Given the description of an element on the screen output the (x, y) to click on. 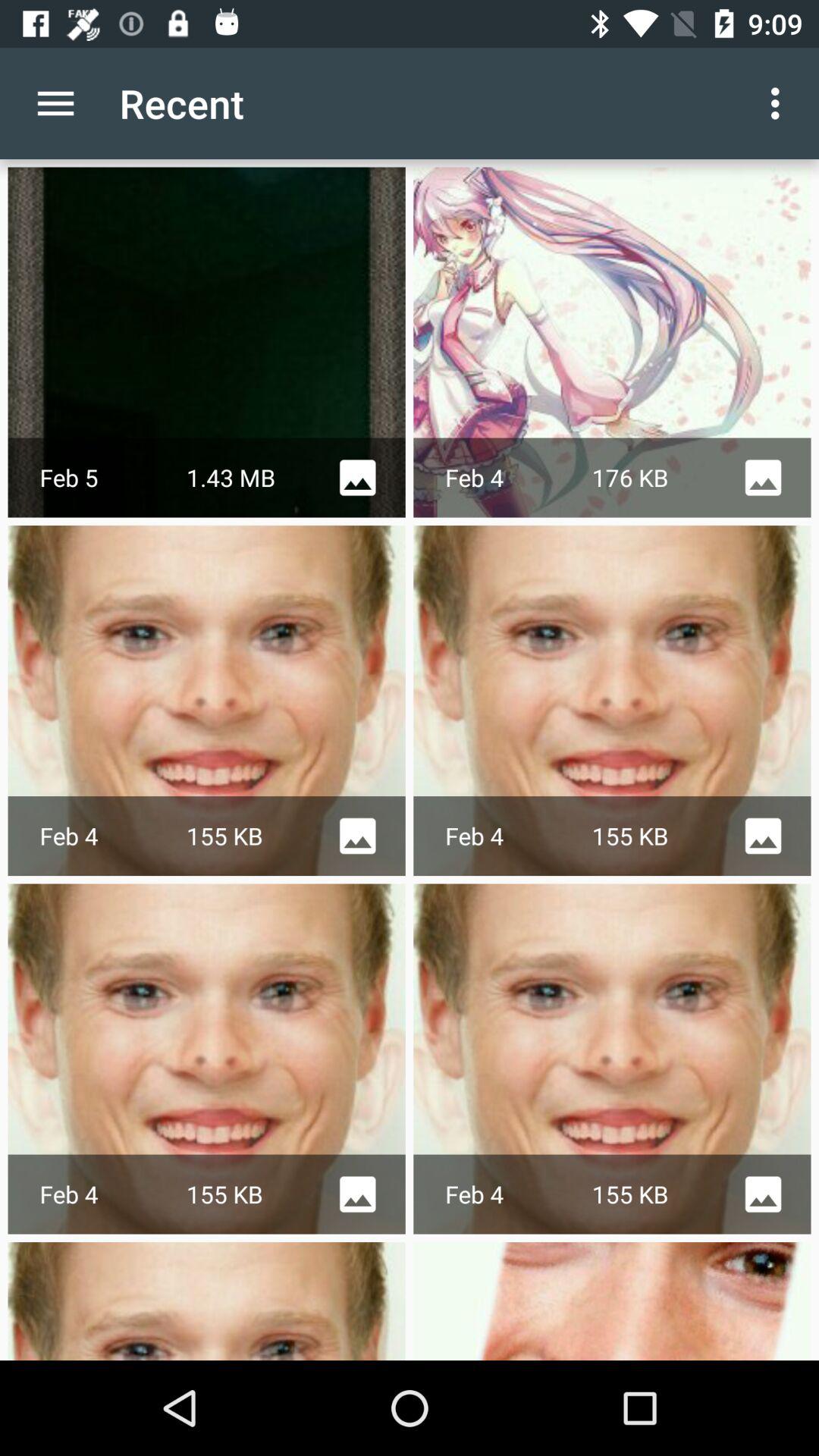
open item to the right of the recent app (779, 103)
